Given the description of an element on the screen output the (x, y) to click on. 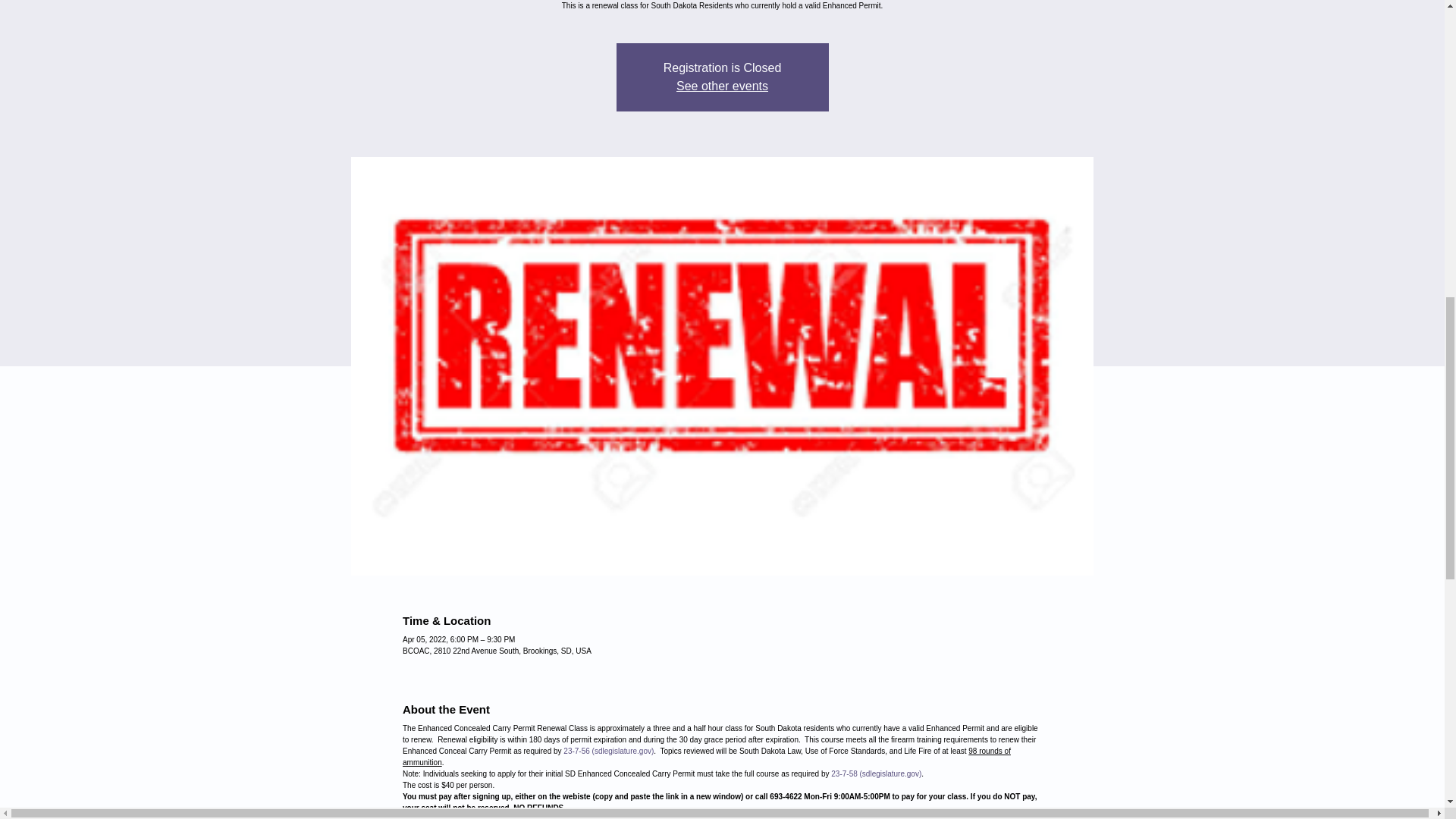
See other events (722, 85)
